Given the description of an element on the screen output the (x, y) to click on. 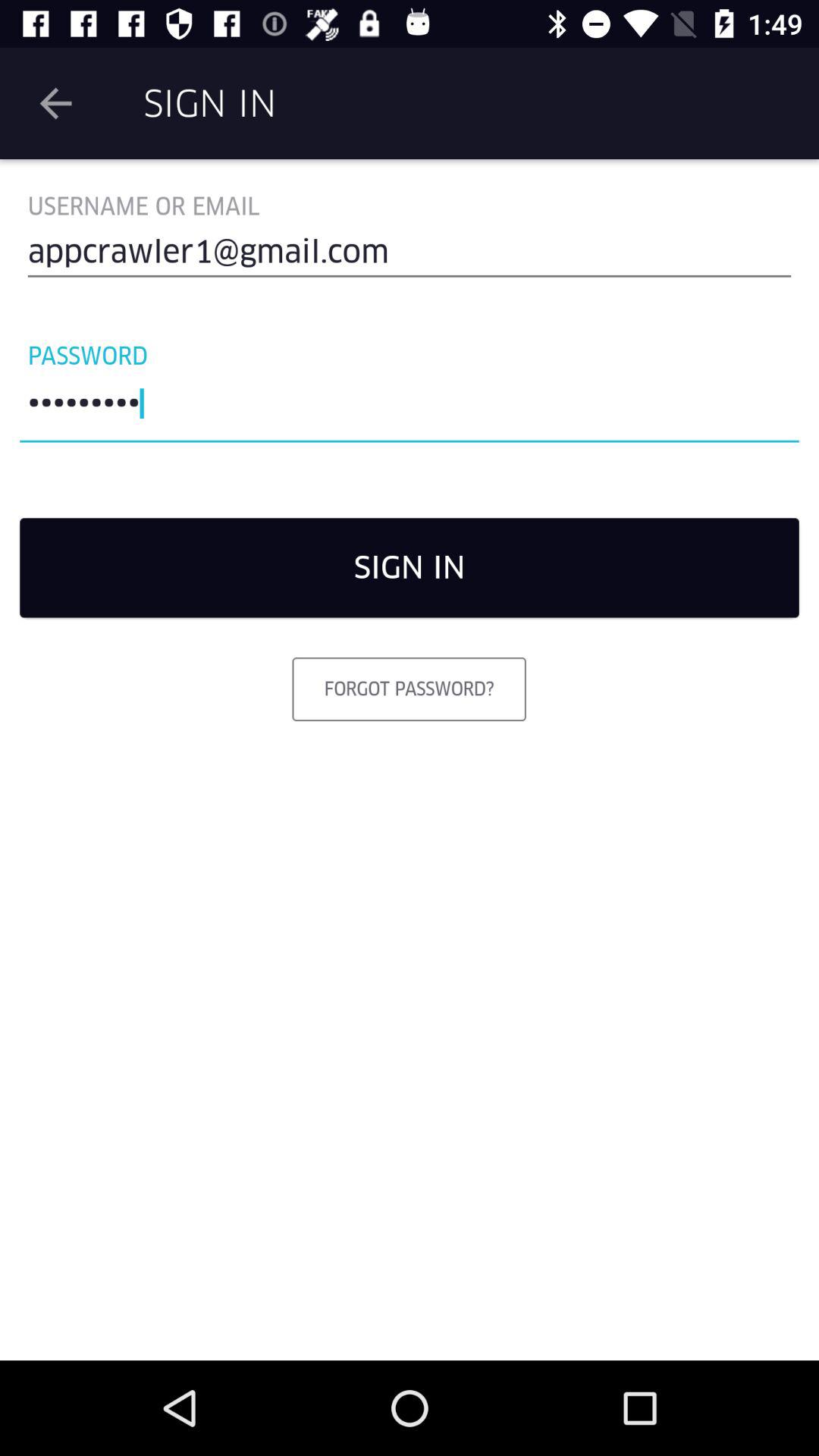
select the item below sign in (409, 689)
